Given the description of an element on the screen output the (x, y) to click on. 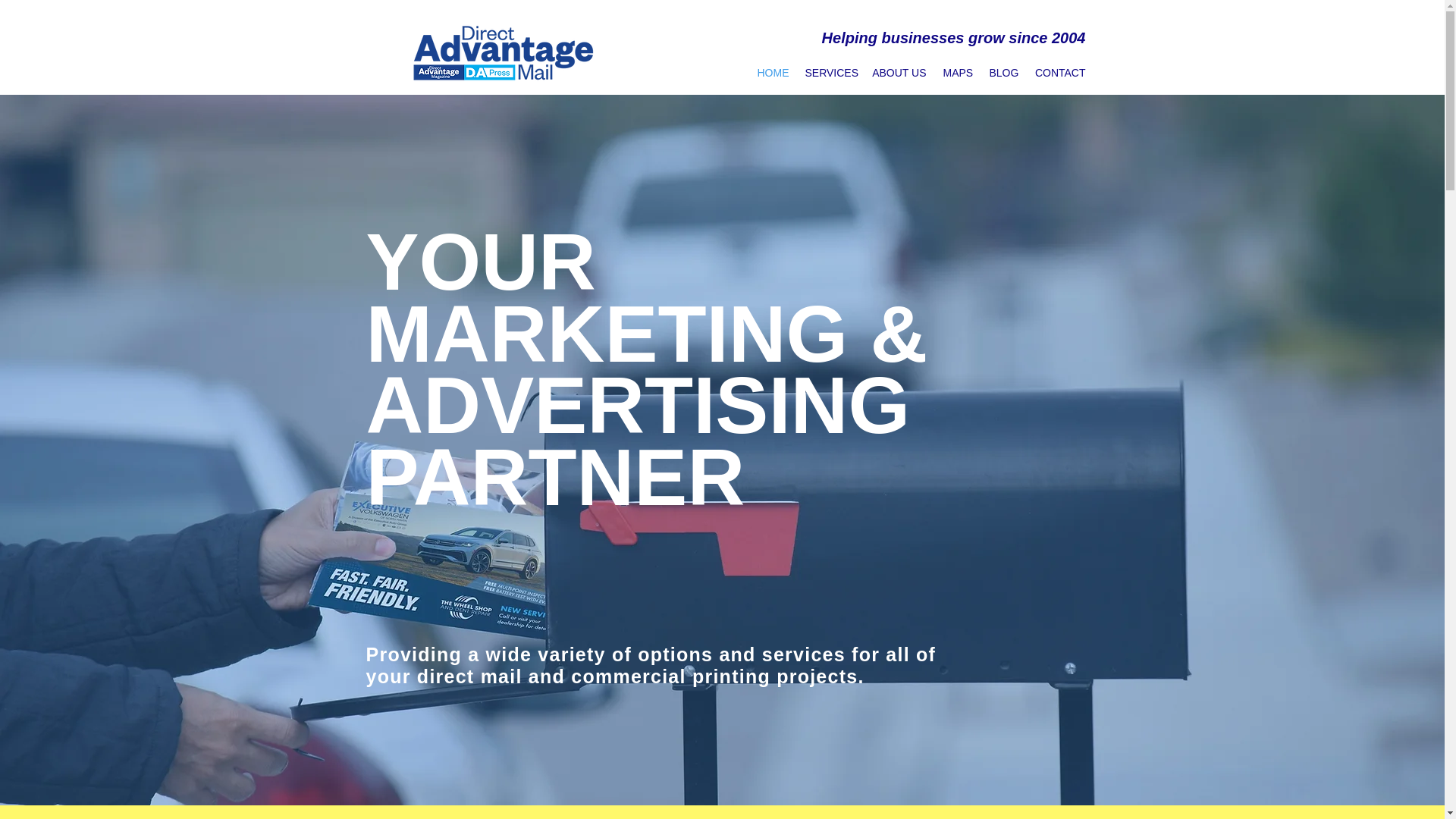
CONTACT (1059, 72)
ABOUT US (898, 72)
MAPS (956, 72)
HOME (772, 72)
BLOG (1003, 72)
SERVICES (829, 72)
